Given the description of an element on the screen output the (x, y) to click on. 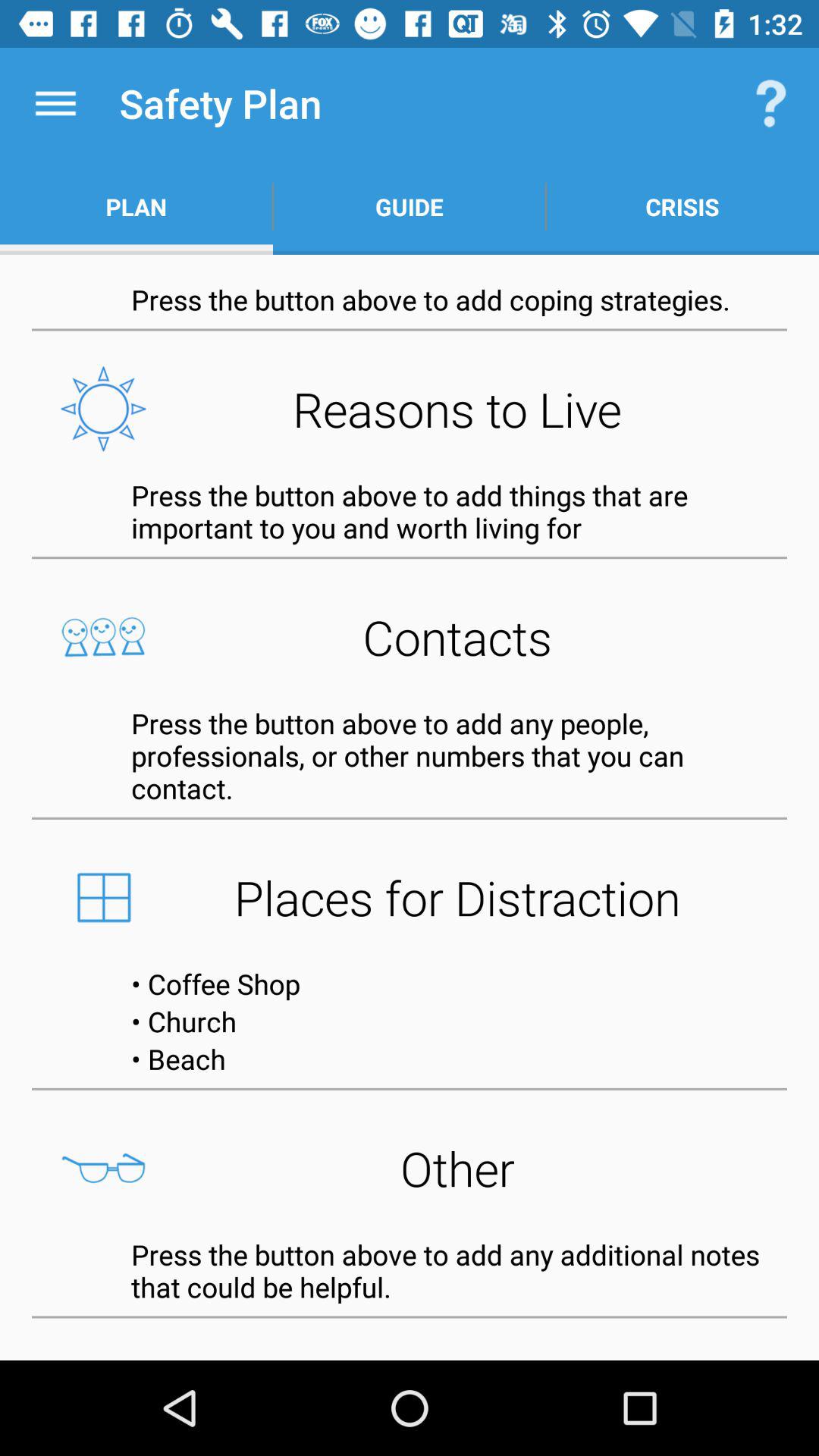
choose the item to the left of the safety plan item (55, 103)
